Given the description of an element on the screen output the (x, y) to click on. 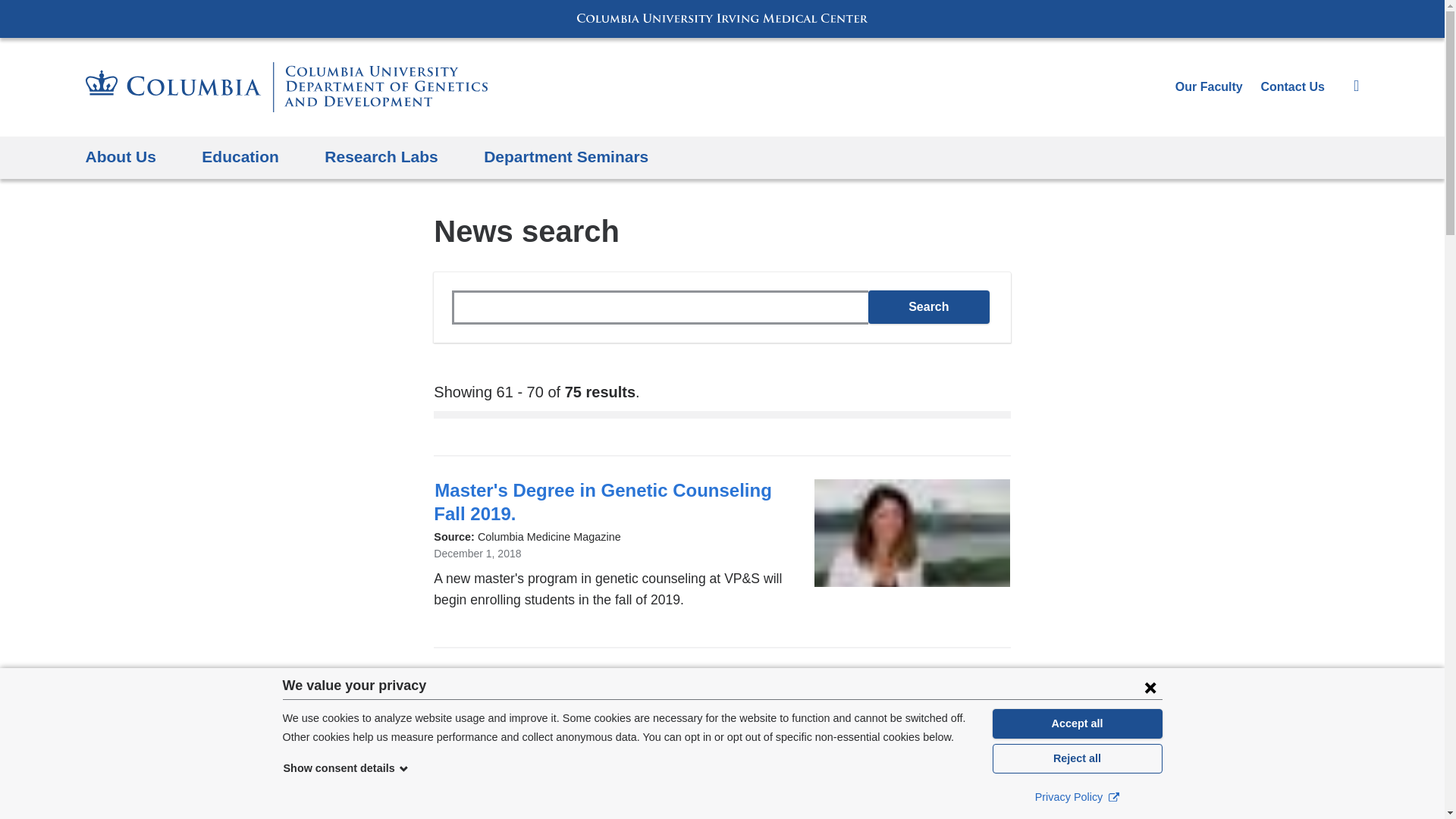
Columbia University Irving Medical Center (721, 17)
Master's Degree in Genetic Counseling Fall 2019. (602, 501)
Research Labs (381, 157)
Our Faculty (1208, 86)
Search (928, 306)
Home (285, 87)
Search (928, 306)
Accept all (1076, 723)
Contact Us (1291, 86)
Show consent details (346, 768)
Department Seminars (565, 157)
About Us (119, 157)
Reject all (1076, 758)
Privacy Policy External link Opens in a new window (1076, 796)
